Given the description of an element on the screen output the (x, y) to click on. 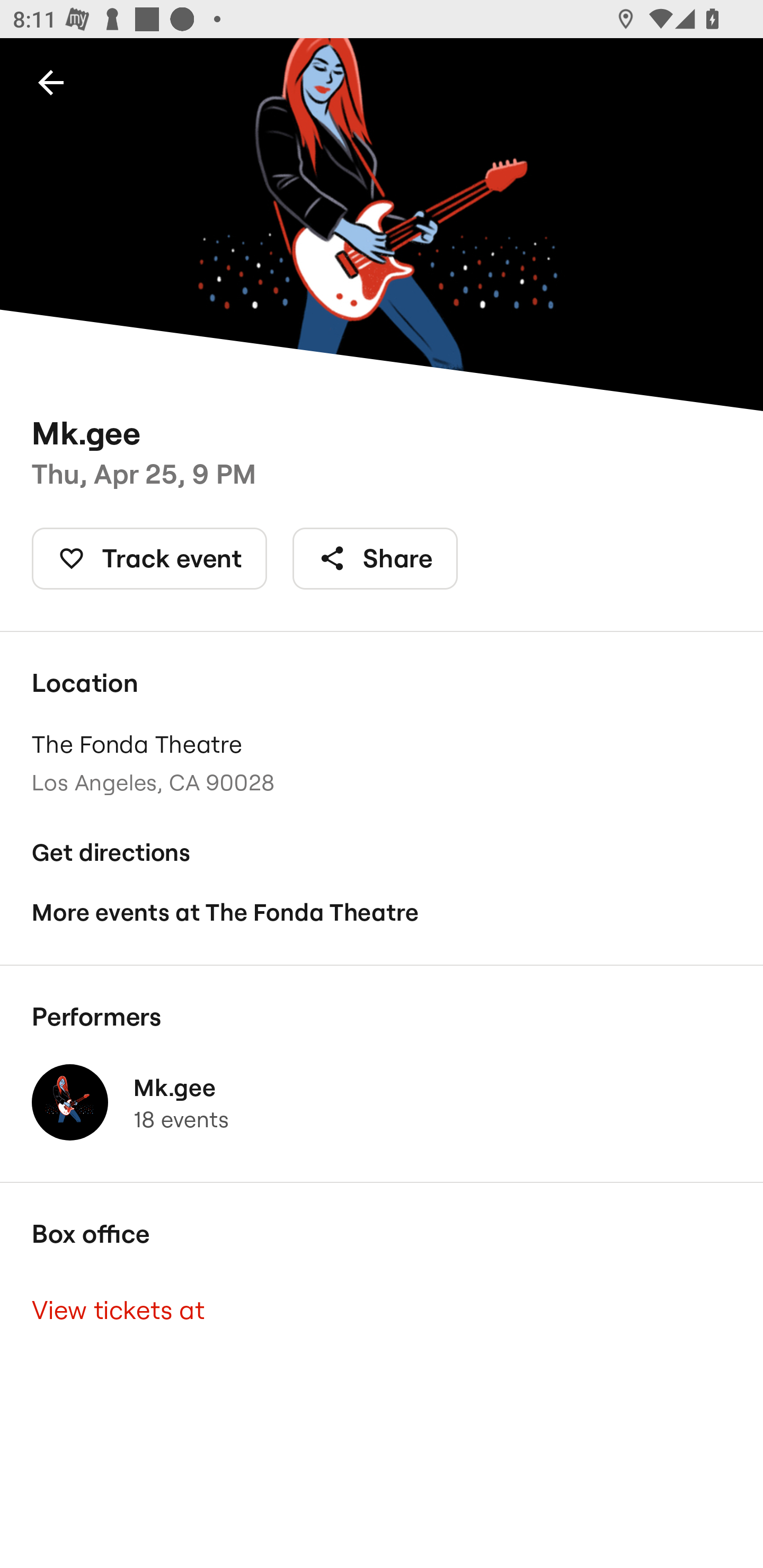
Back (50, 81)
Track event (149, 557)
Share (374, 557)
Get directions (381, 852)
More events at The Fonda Theatre (381, 912)
Mk.gee 18 events (381, 1102)
View tickets at  (381, 1309)
